Given the description of an element on the screen output the (x, y) to click on. 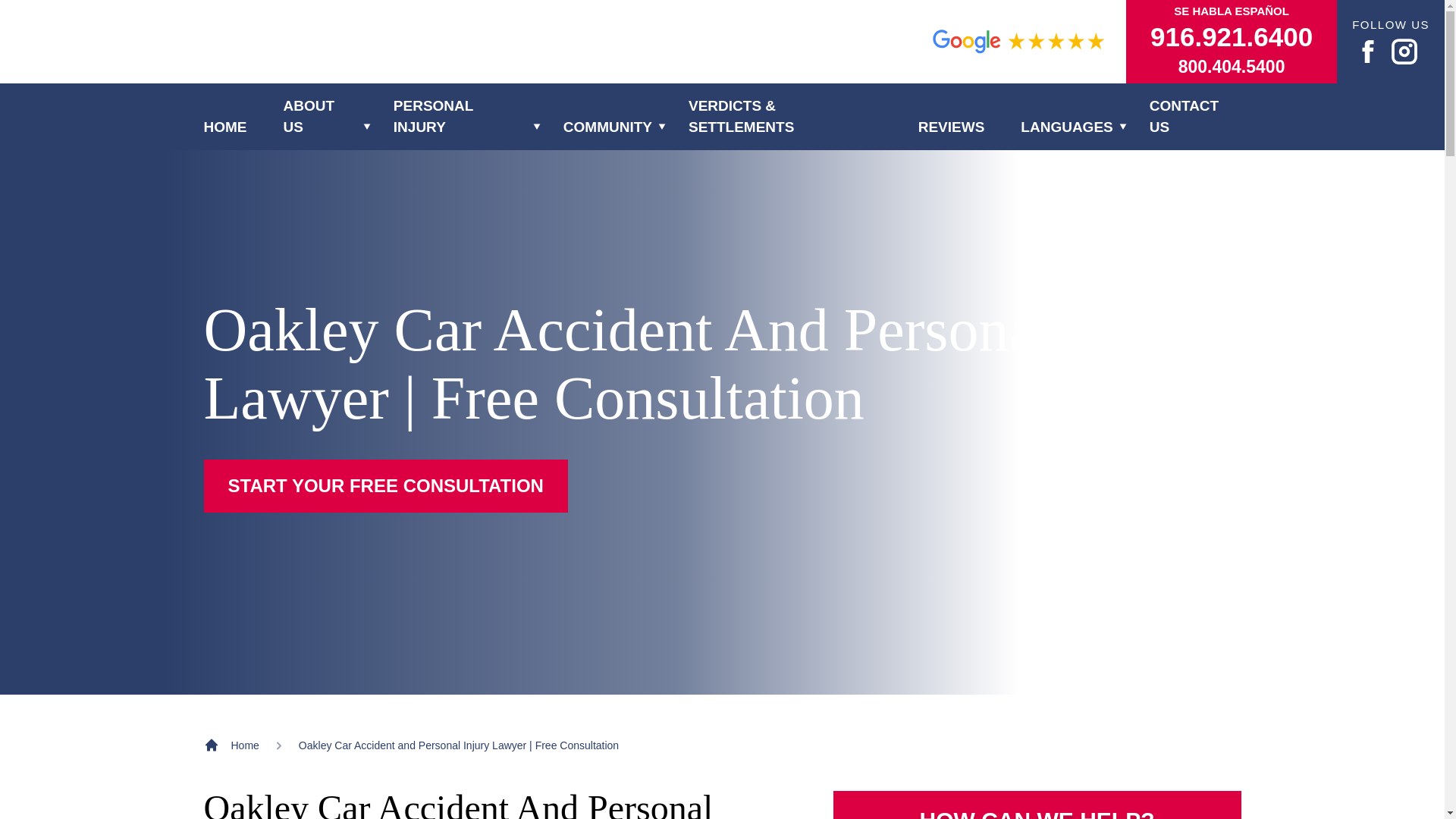
CONTACT US (1195, 116)
800.404.5400 (1231, 67)
COMMUNITY (607, 126)
REVIEWS (951, 126)
LANGUAGES (1066, 126)
ABOUT US (319, 116)
916.921.6400 (1231, 37)
HOME (224, 126)
PERSONAL INJURY (460, 116)
